Given the description of an element on the screen output the (x, y) to click on. 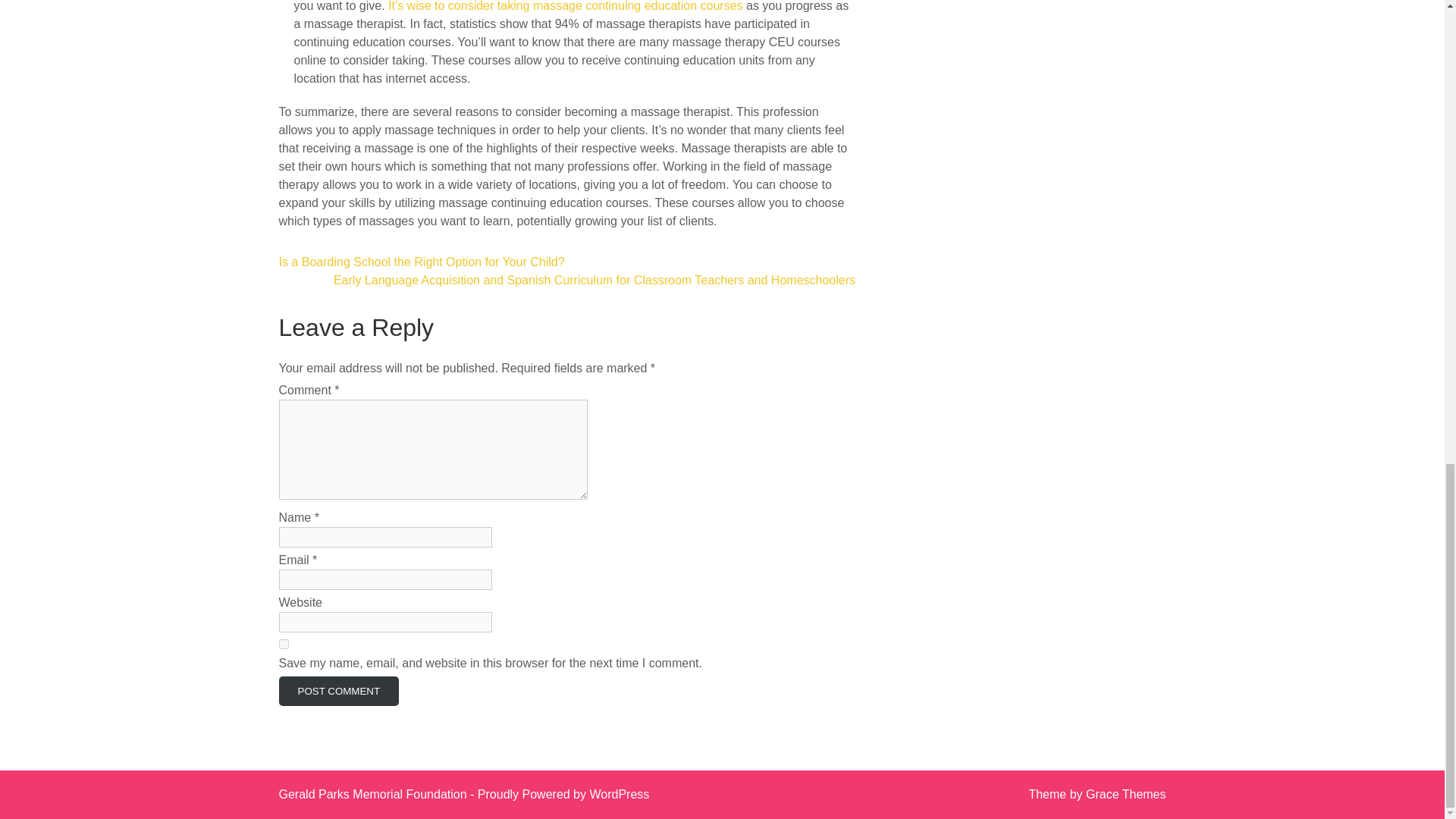
Post Comment (338, 690)
yes (283, 644)
Post Comment (338, 690)
How to do massage online ceu, Ncbtmb (565, 6)
Is a Boarding School the Right Option for Your Child? (421, 261)
